Given the description of an element on the screen output the (x, y) to click on. 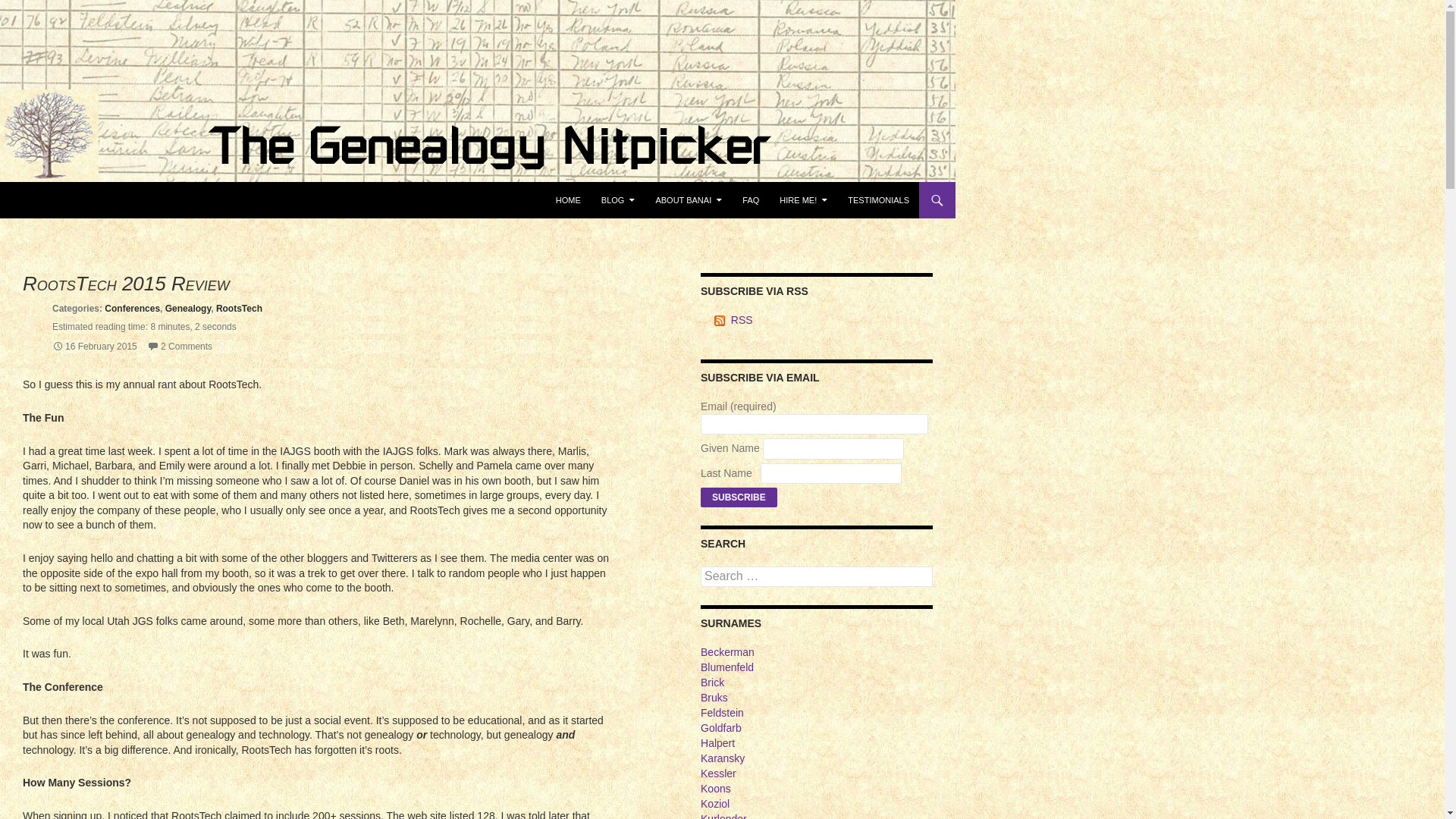
Genealogy (188, 308)
HIRE ME! (802, 199)
RootsTech (238, 308)
Beckerman (727, 652)
Brick (711, 682)
Search (30, 9)
Subscribe (738, 496)
Search (20, 189)
The Ginger Jewish Genealogist (124, 199)
Subscribe (738, 496)
